Given the description of an element on the screen output the (x, y) to click on. 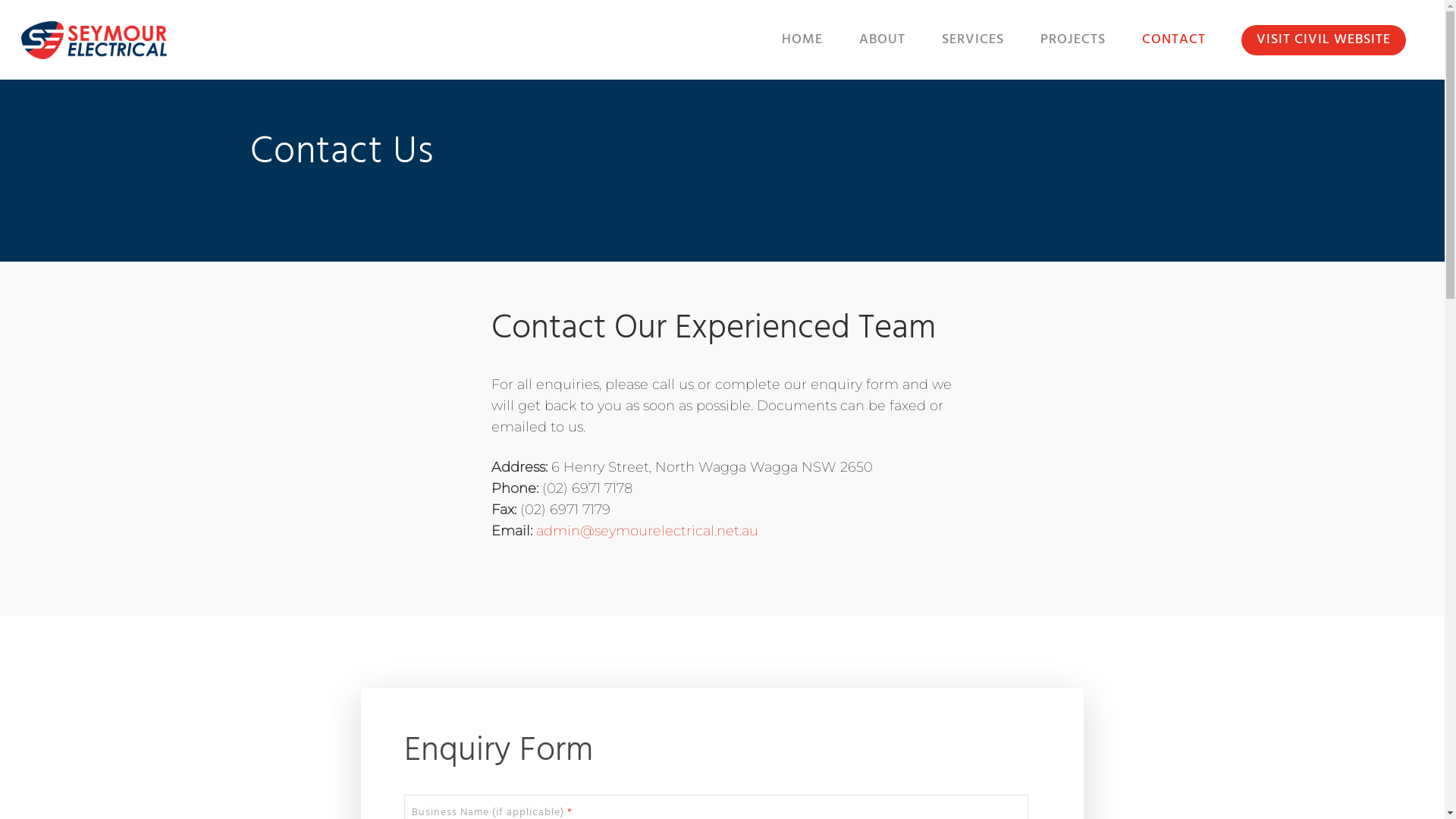
CONTACT Element type: text (1173, 50)
VISIT CIVIL WEBSITE Element type: text (1323, 50)
PROJECTS Element type: text (1072, 50)
ABOUT Element type: text (881, 50)
HOME Element type: text (802, 50)
SERVICES Element type: text (972, 50)
admin@seymourelectrical.net.au  Element type: text (649, 530)
